Given the description of an element on the screen output the (x, y) to click on. 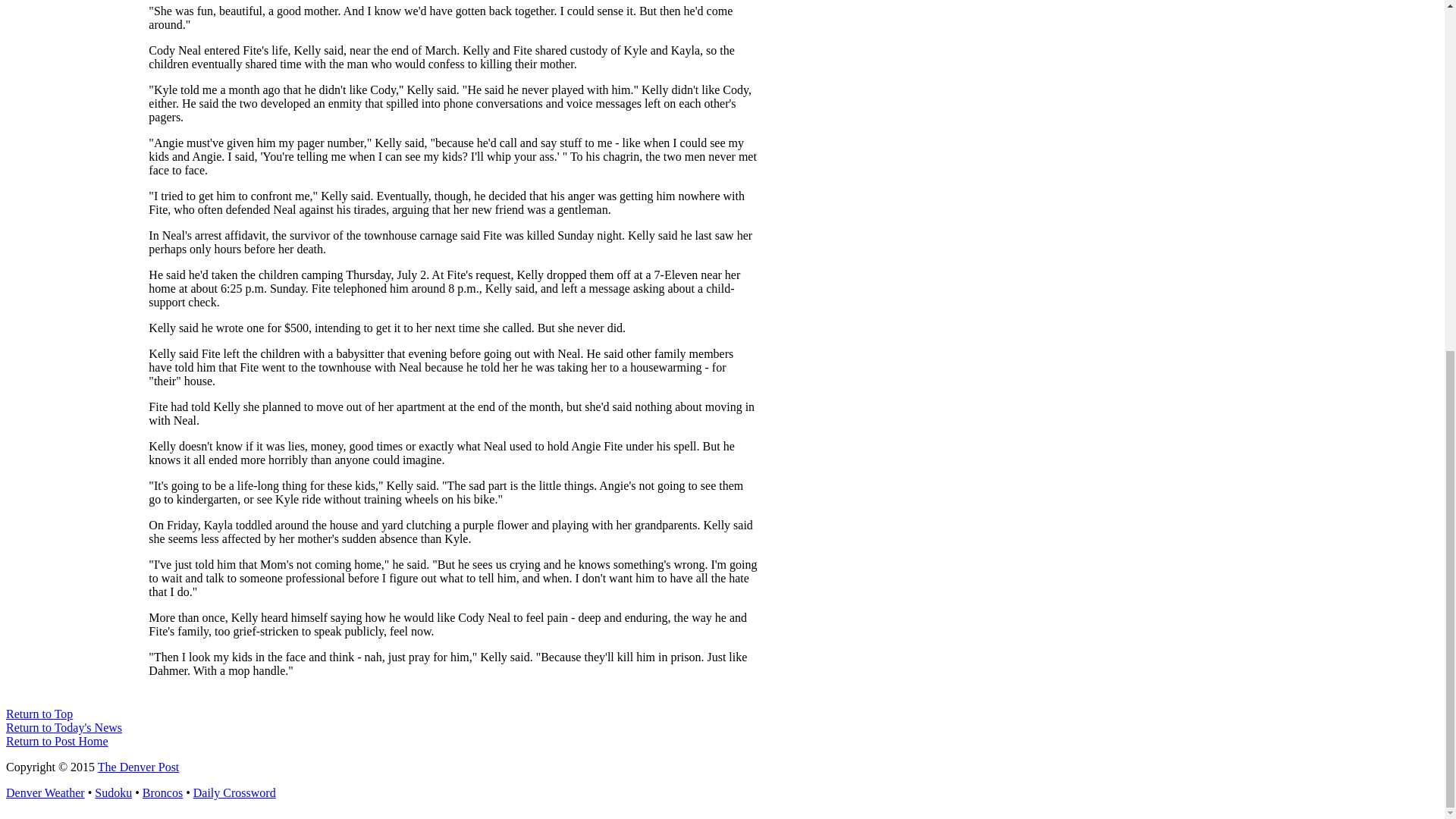
Daily Crossword (234, 792)
Denver Weather (44, 792)
Return to Post Home (56, 740)
Sudoku (113, 792)
Broncos (162, 792)
Return to Today's News (63, 727)
Return to Top (38, 713)
The Denver Post (138, 766)
